Given the description of an element on the screen output the (x, y) to click on. 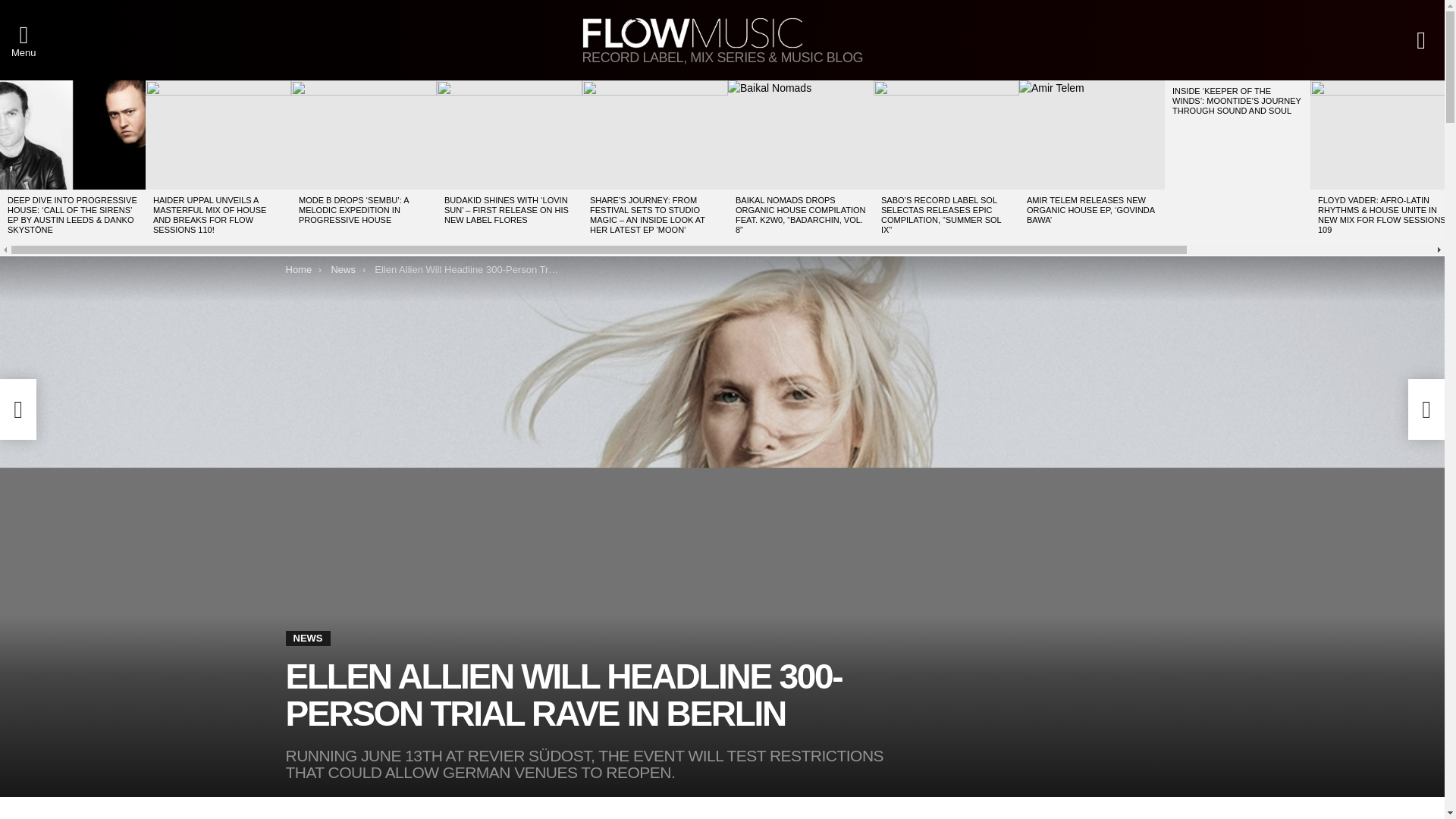
Home (298, 269)
News (342, 269)
NEWS (307, 638)
